Given the description of an element on the screen output the (x, y) to click on. 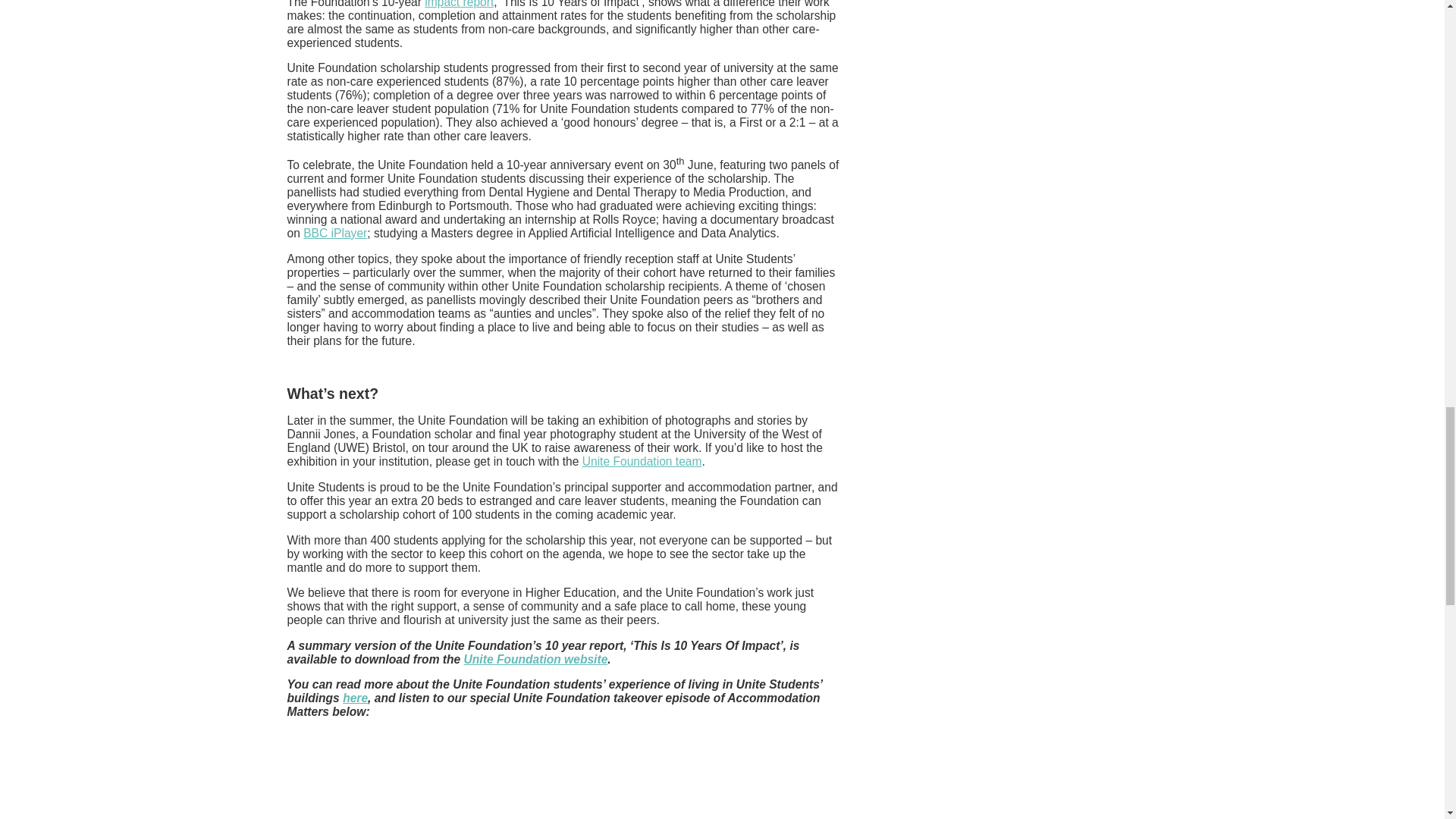
S03E03: Unite Foundation takeover (563, 775)
